Given the description of an element on the screen output the (x, y) to click on. 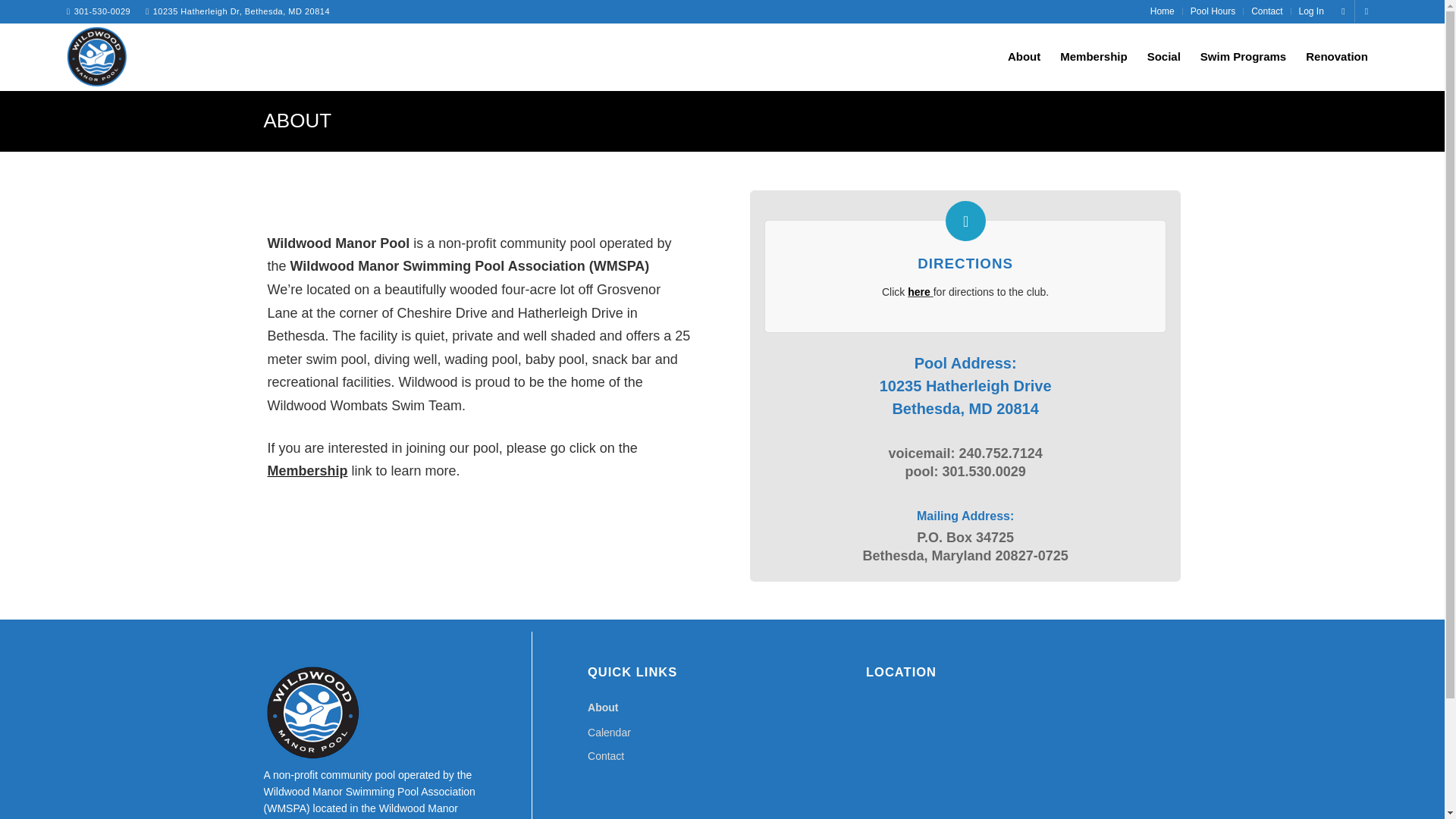
Log In (1310, 11)
About (722, 707)
Renovation (1336, 56)
Membership (1093, 56)
wildwood-manor (97, 59)
Instagram (1366, 11)
Facebook (1343, 11)
here (918, 291)
Calendar (722, 732)
Pool Hours (1212, 11)
Swim Programs (1243, 56)
Contact (722, 756)
ABOUT (297, 119)
Permanent Link: About (297, 119)
wildwood-manor (97, 56)
